Given the description of an element on the screen output the (x, y) to click on. 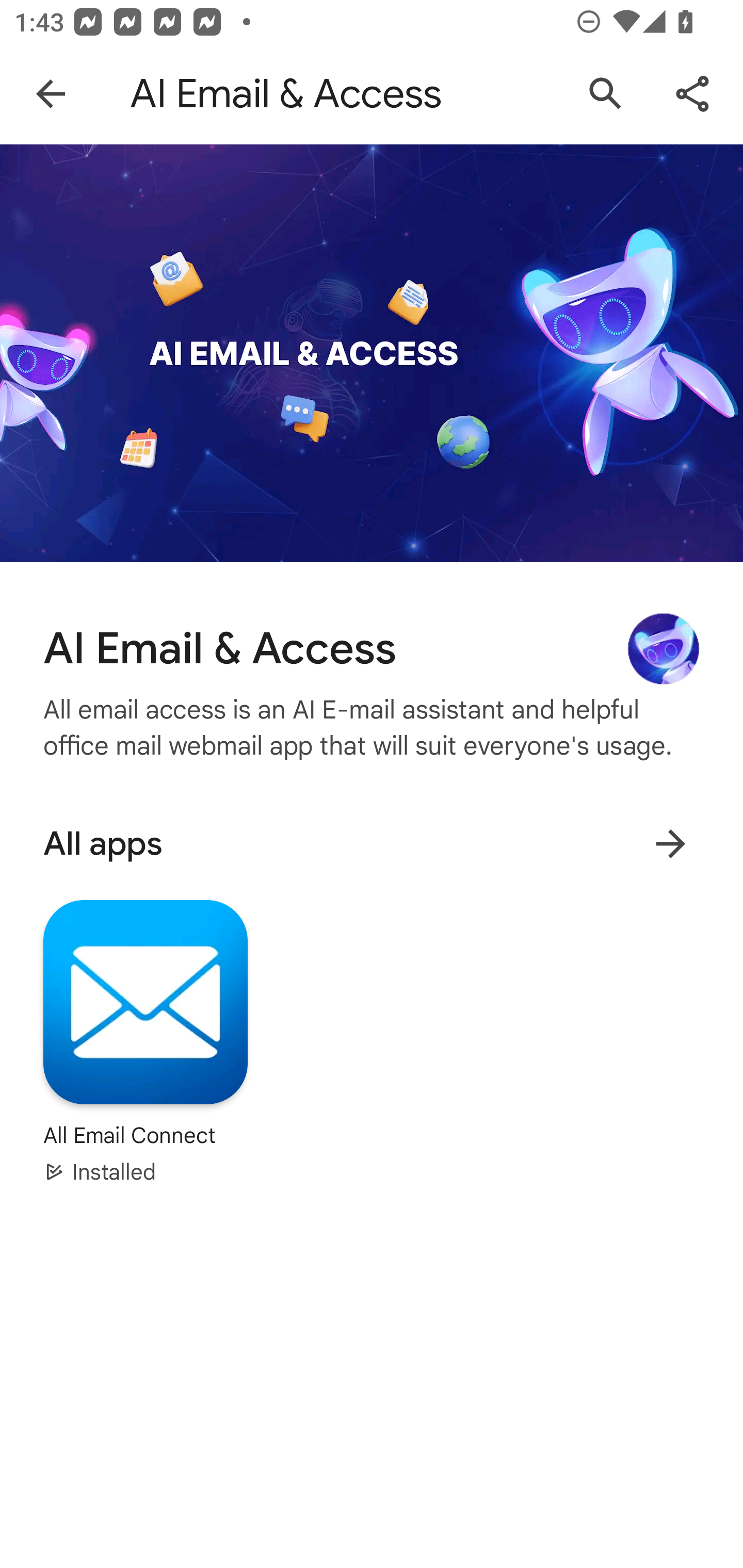
Navigate up (50, 93)
Search Google Play (605, 93)
Share (692, 93)
All apps More results for All apps (371, 843)
More results for All apps (670, 844)
All Email Connect
Installed
 (145, 1040)
